Given the description of an element on the screen output the (x, y) to click on. 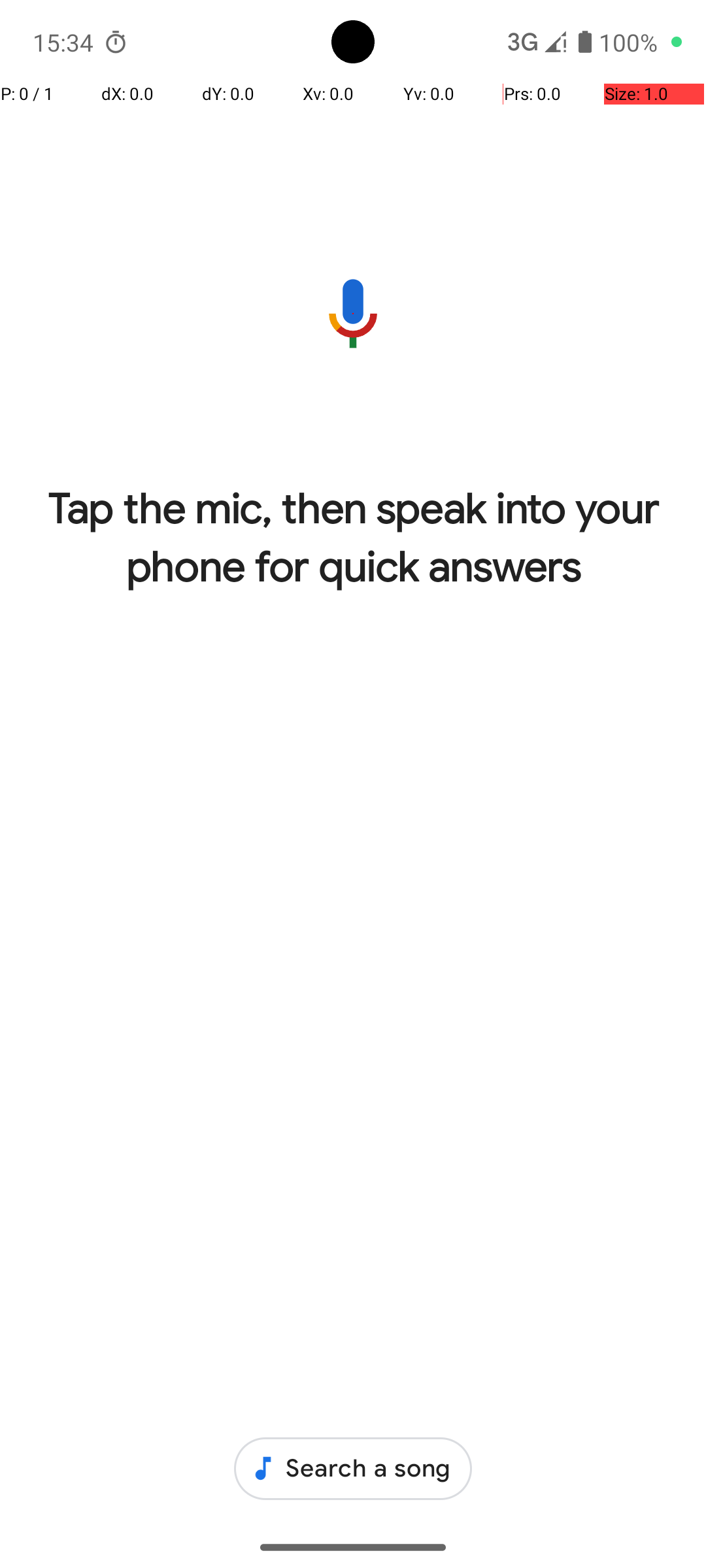
Speak into the phone to ask me something. Element type: android.view.View (352, 313)
Tap the mic, then speak into your phone for quick answers Element type: android.widget.TextView (353, 538)
Search a song Element type: android.widget.Button (352, 1468)
